Given the description of an element on the screen output the (x, y) to click on. 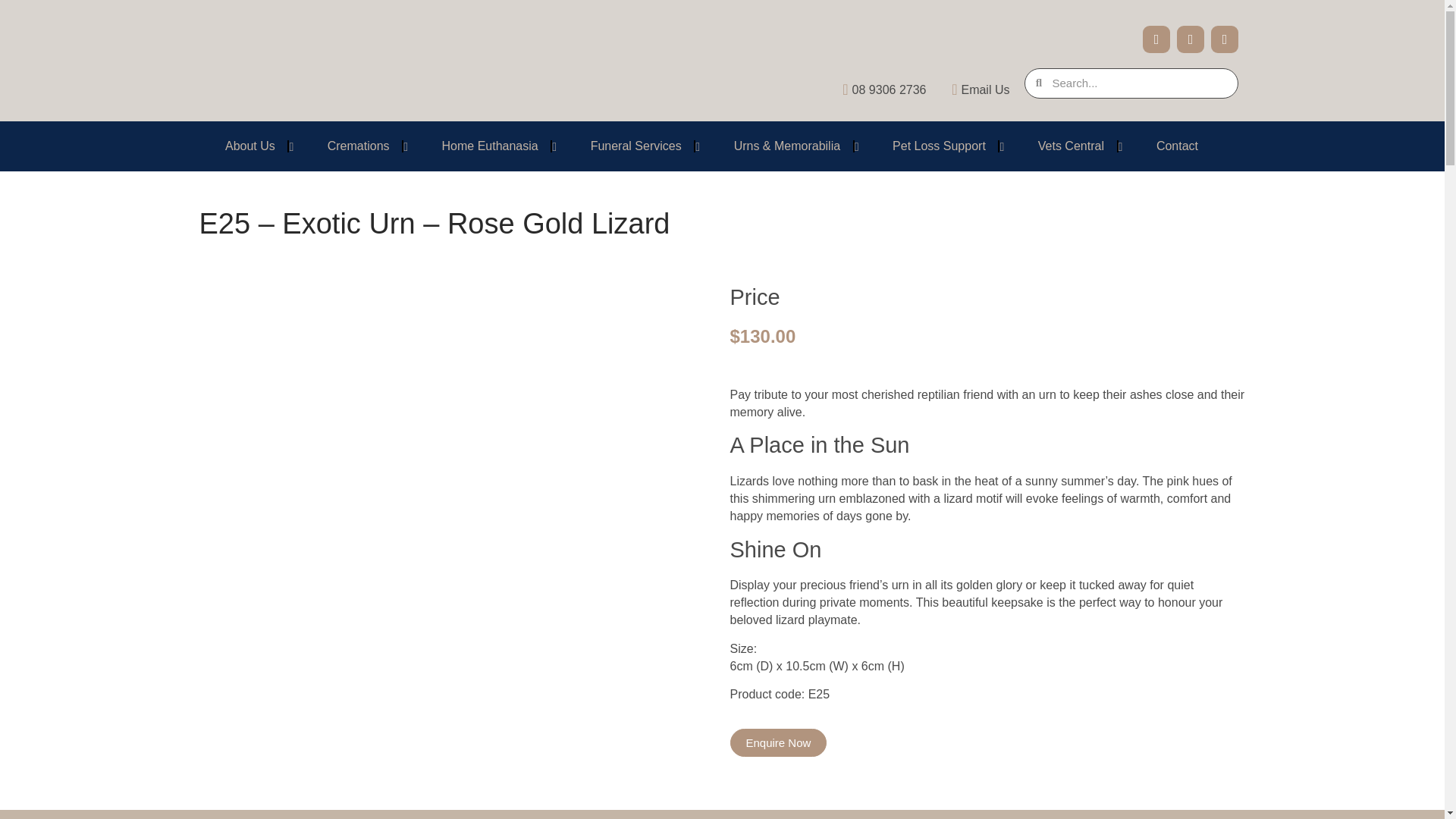
Funeral Services (635, 145)
Email Us (973, 89)
Home Euthanasia (489, 145)
Cremations (357, 145)
About Us (249, 145)
08 9306 2736 (877, 89)
